Given the description of an element on the screen output the (x, y) to click on. 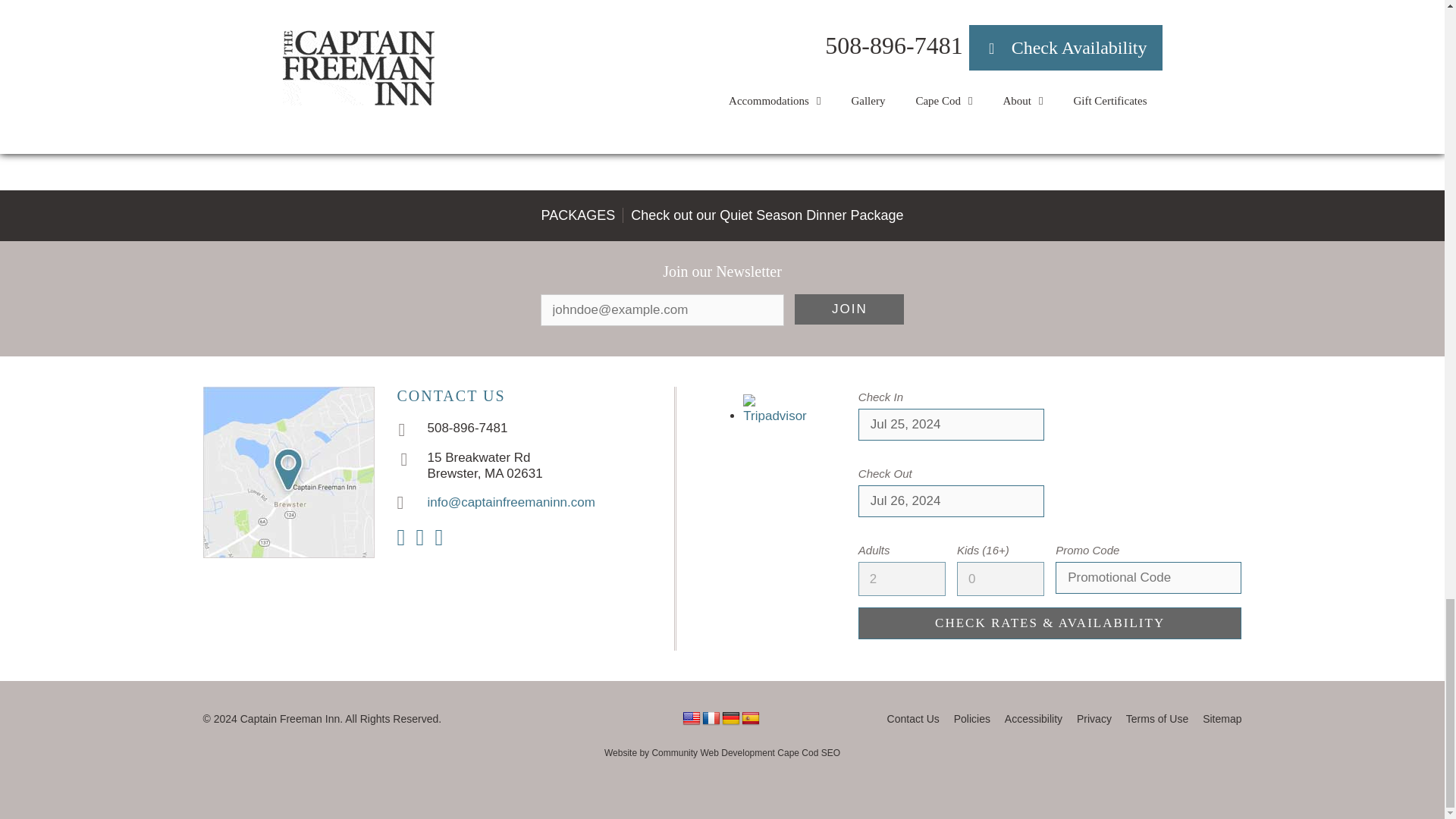
Facebook (418, 536)
Jul 26, 2024 (951, 500)
Jul 25, 2024 (951, 424)
TripAdvisor (437, 536)
CONTACT US (451, 395)
Join (849, 309)
Join (849, 309)
Instagram (401, 536)
